Given the description of an element on the screen output the (x, y) to click on. 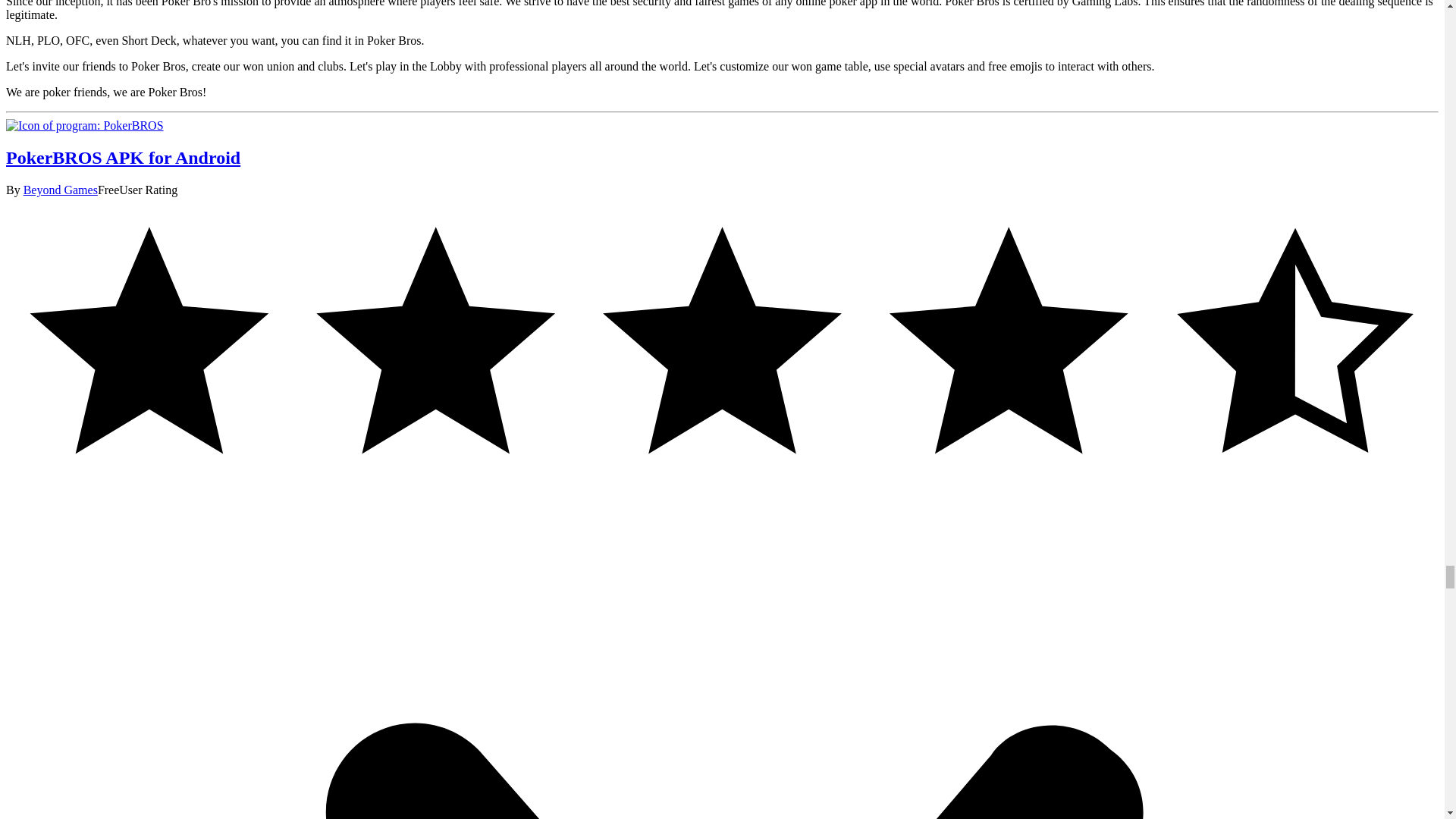
PokerBROS APK for Android (84, 124)
